Given the description of an element on the screen output the (x, y) to click on. 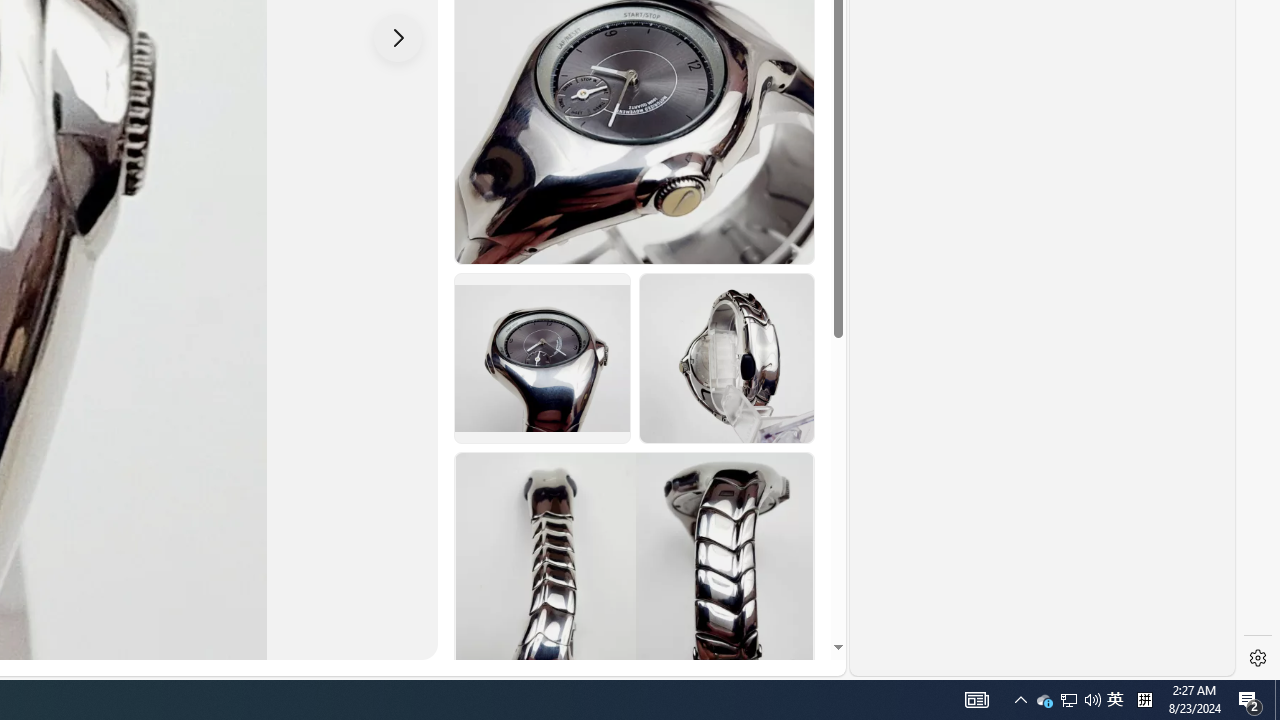
Next image - Item images thumbnails (397, 37)
